Given the description of an element on the screen output the (x, y) to click on. 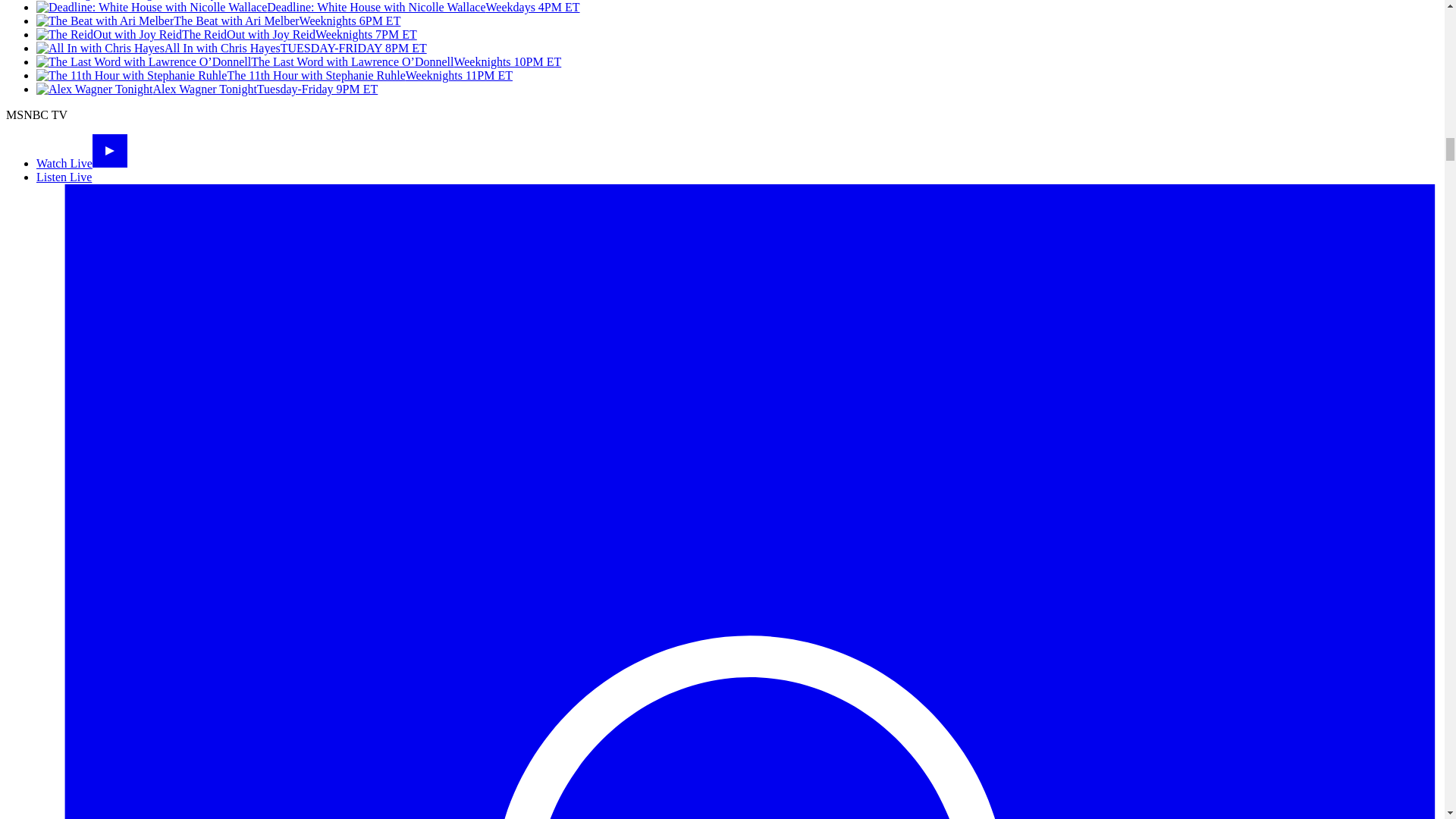
Alex Wagner TonightTuesday-Friday 9PM ET (206, 88)
The Beat with Ari MelberWeeknights 6PM ET (218, 20)
All In with Chris HayesTUESDAY-FRIDAY 8PM ET (231, 47)
The 11th Hour with Stephanie RuhleWeeknights 11PM ET (274, 74)
Watch Live (82, 163)
The ReidOut with Joy ReidWeeknights 7PM ET (226, 33)
Deadline: White House with Nicolle WallaceWeekdays 4PM ET (307, 6)
